Given the description of an element on the screen output the (x, y) to click on. 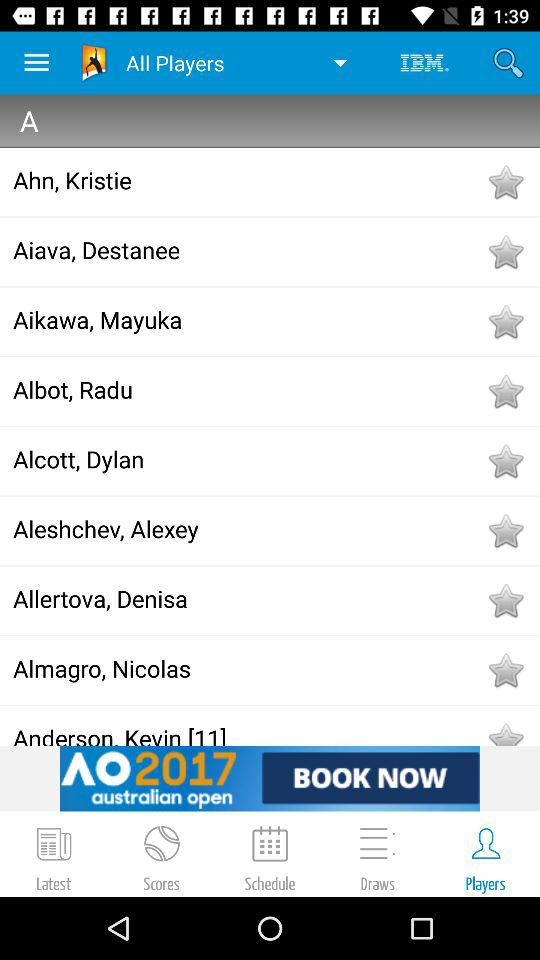
favorite button (505, 391)
